Given the description of an element on the screen output the (x, y) to click on. 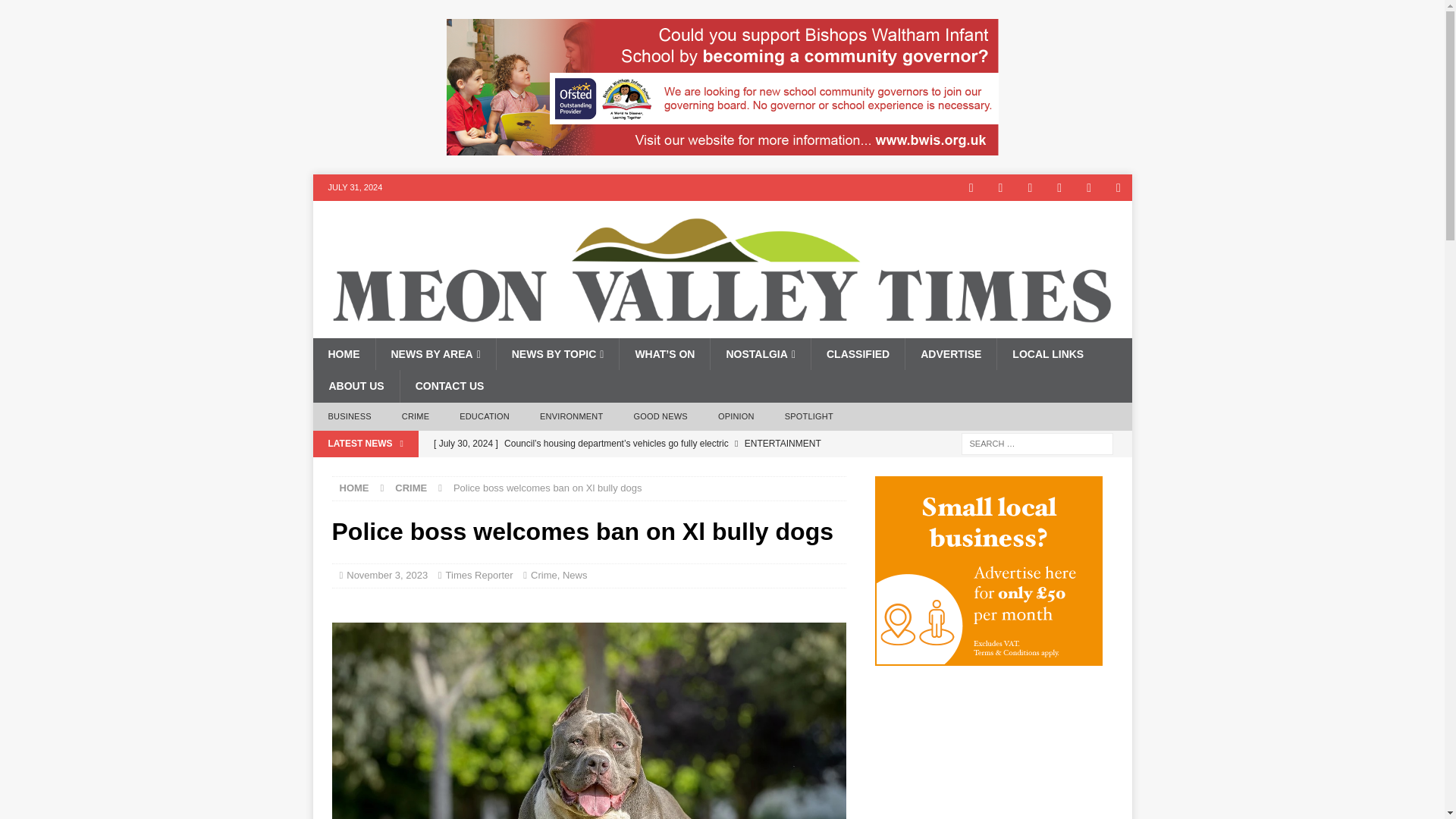
XL Bully (588, 720)
